Given the description of an element on the screen output the (x, y) to click on. 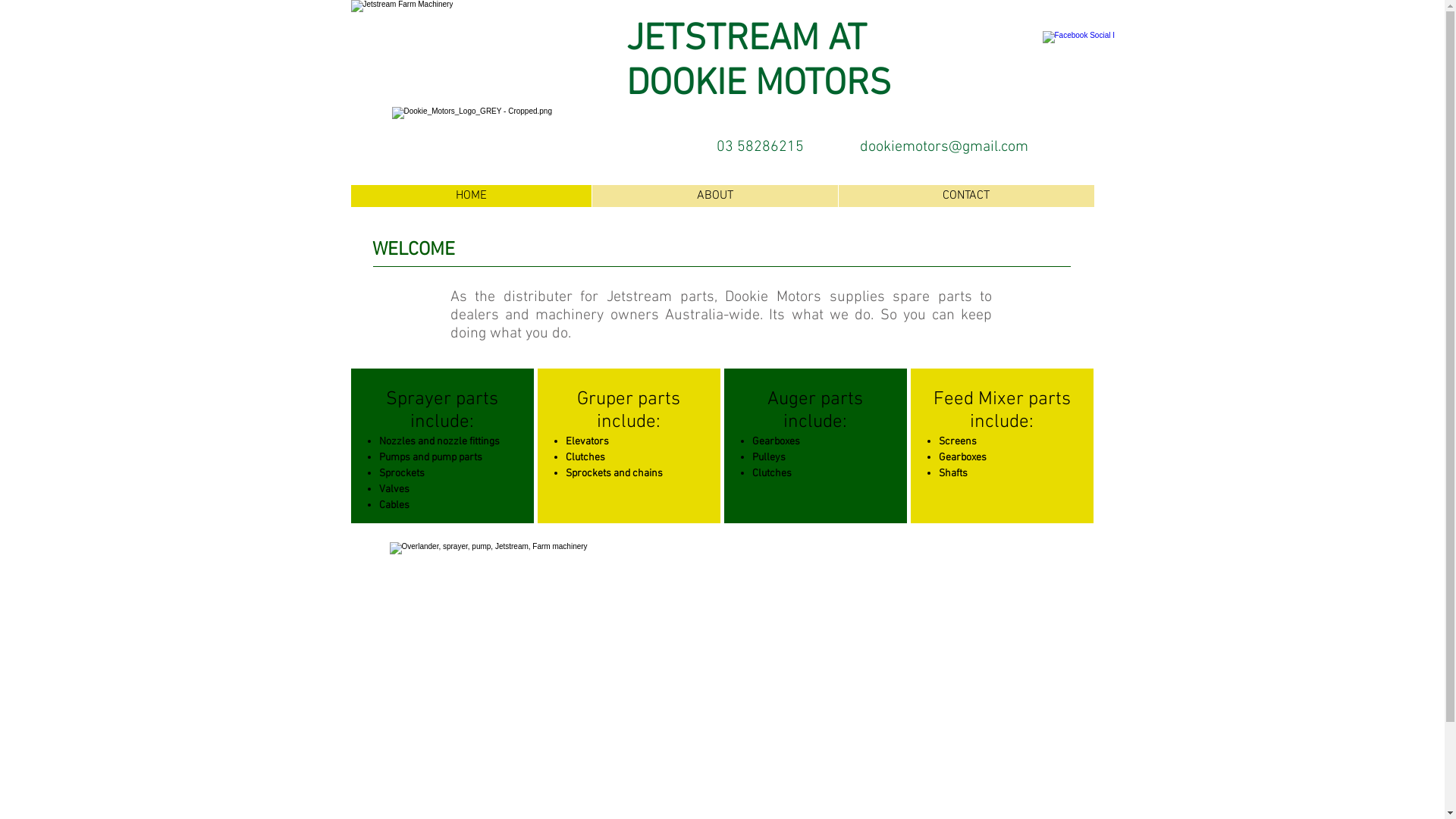
ABOUT Element type: text (714, 196)
HOME Element type: text (470, 196)
CONTACT Element type: text (965, 196)
dookiemotors@gmail.com Element type: text (943, 147)
